Given the description of an element on the screen output the (x, y) to click on. 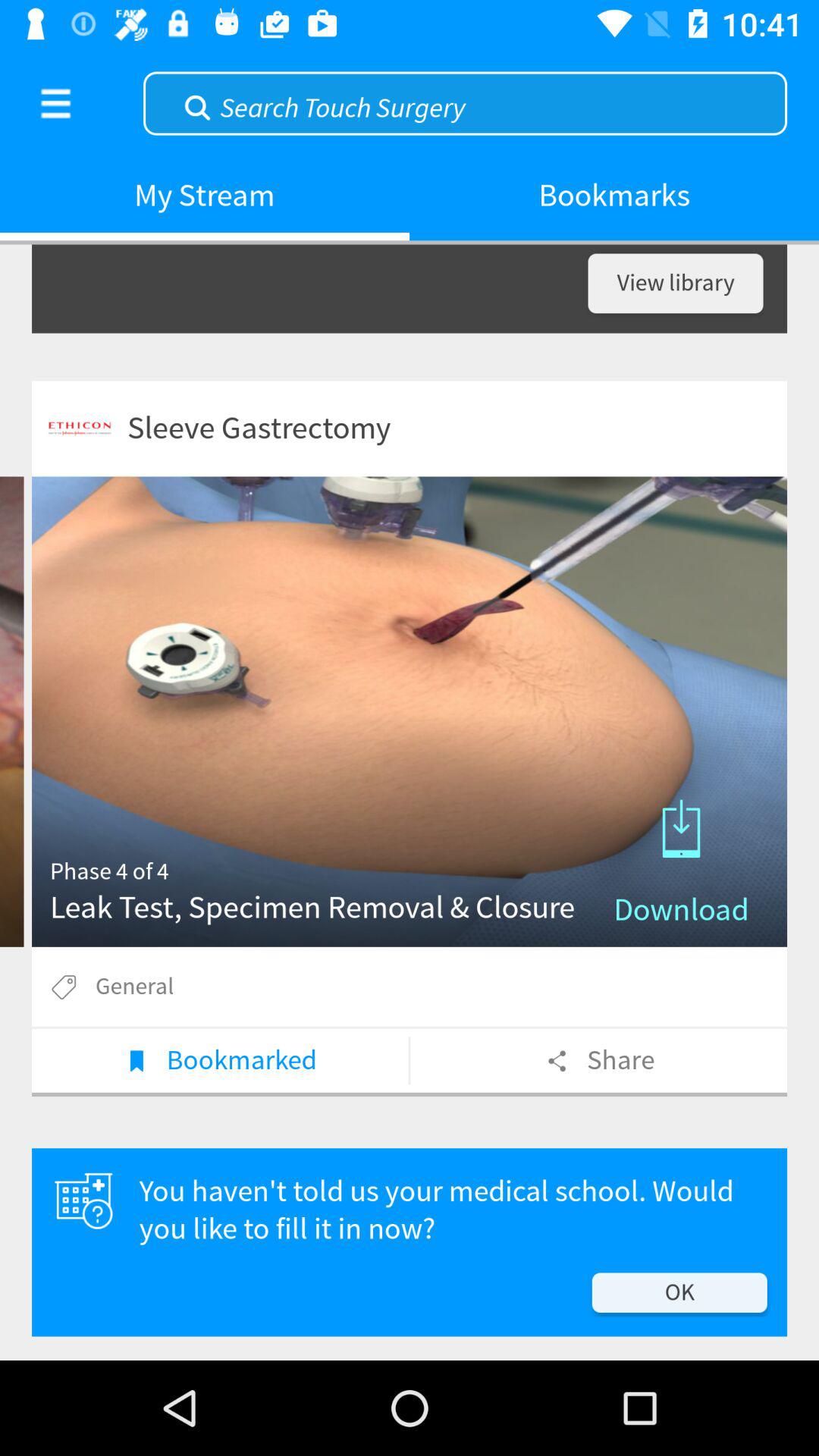
tap the item to the left of the my stream item (55, 103)
